Given the description of an element on the screen output the (x, y) to click on. 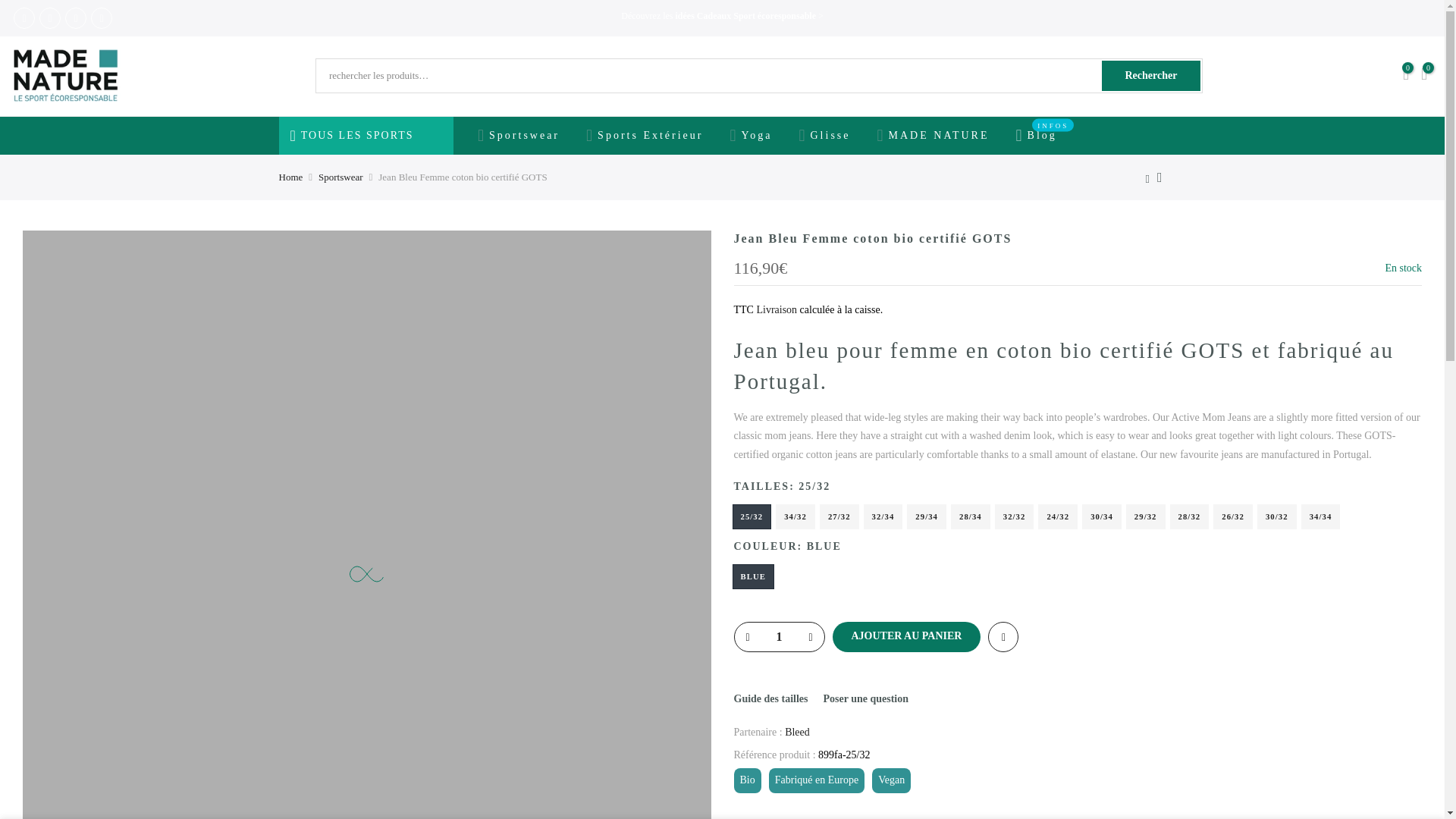
1 (778, 636)
MADE NATURE (933, 135)
Rechercher (1150, 75)
0 (1405, 76)
Bleed (796, 732)
Glisse (824, 135)
Sportswear (340, 177)
Home (290, 177)
Yoga (751, 135)
Sportswear (518, 135)
